Given the description of an element on the screen output the (x, y) to click on. 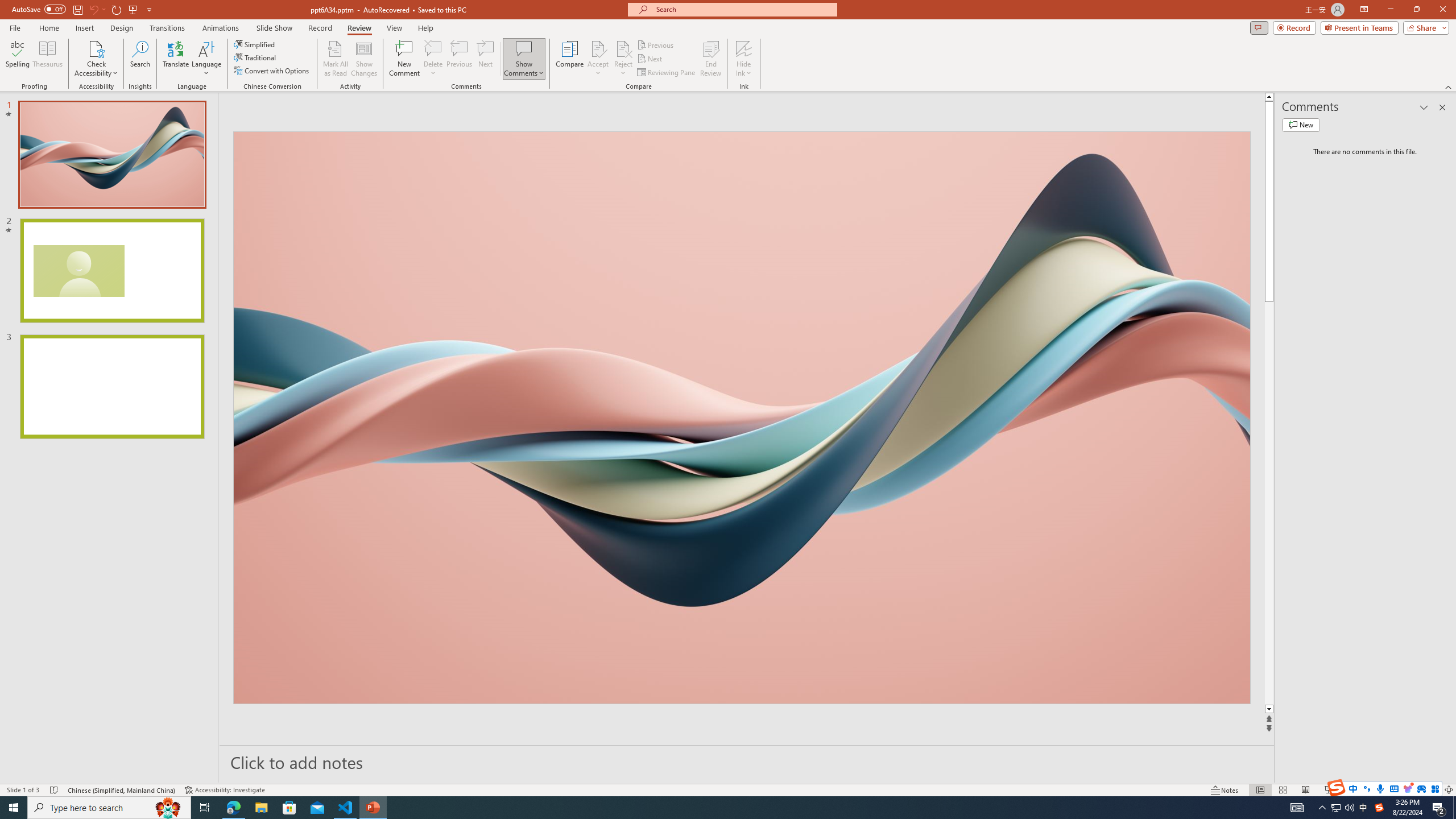
Hide Ink (743, 58)
Compare (569, 58)
Show Comments (524, 58)
Show Comments (524, 48)
